Given the description of an element on the screen output the (x, y) to click on. 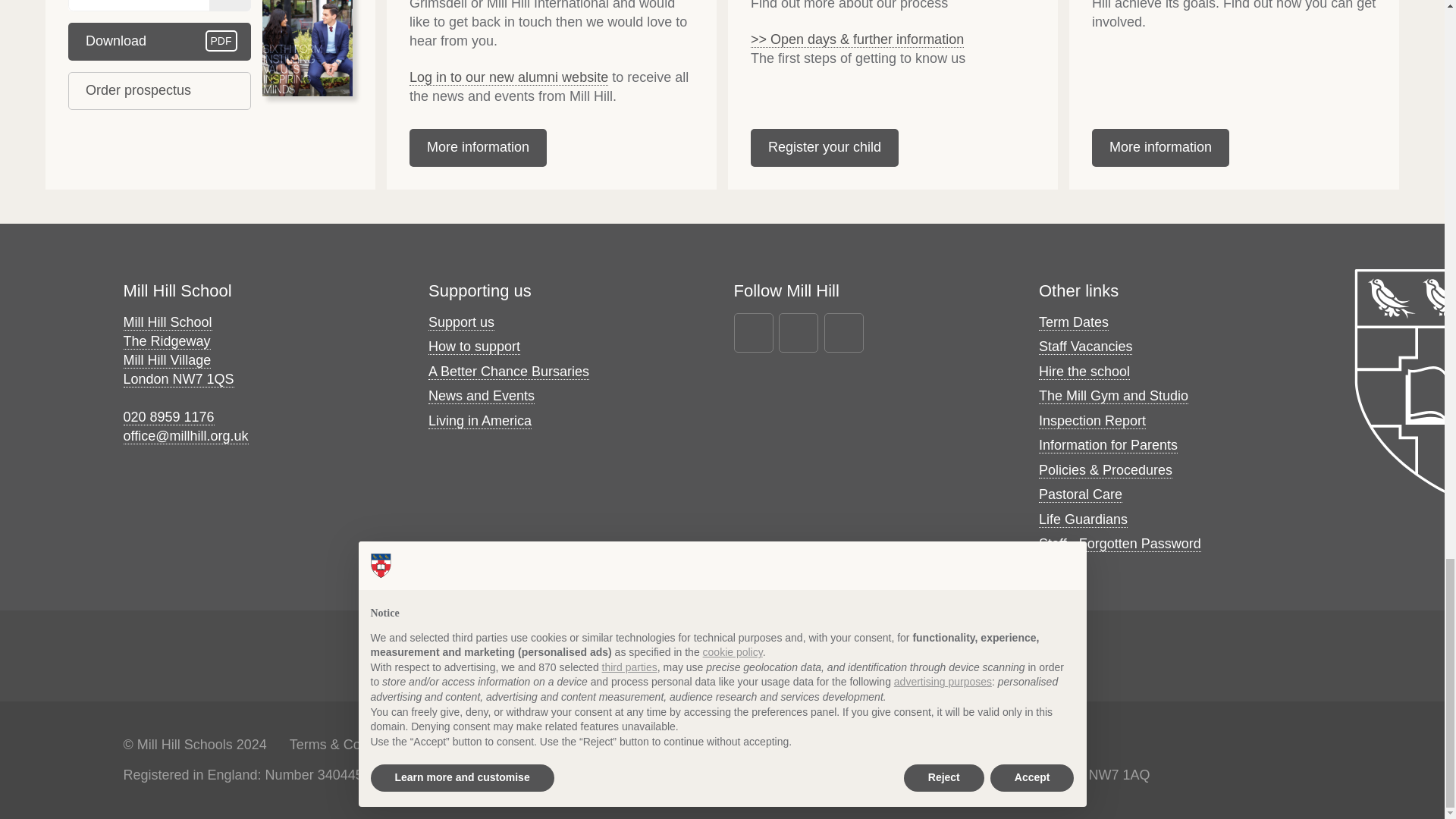
Order prospectus (159, 41)
